Given the description of an element on the screen output the (x, y) to click on. 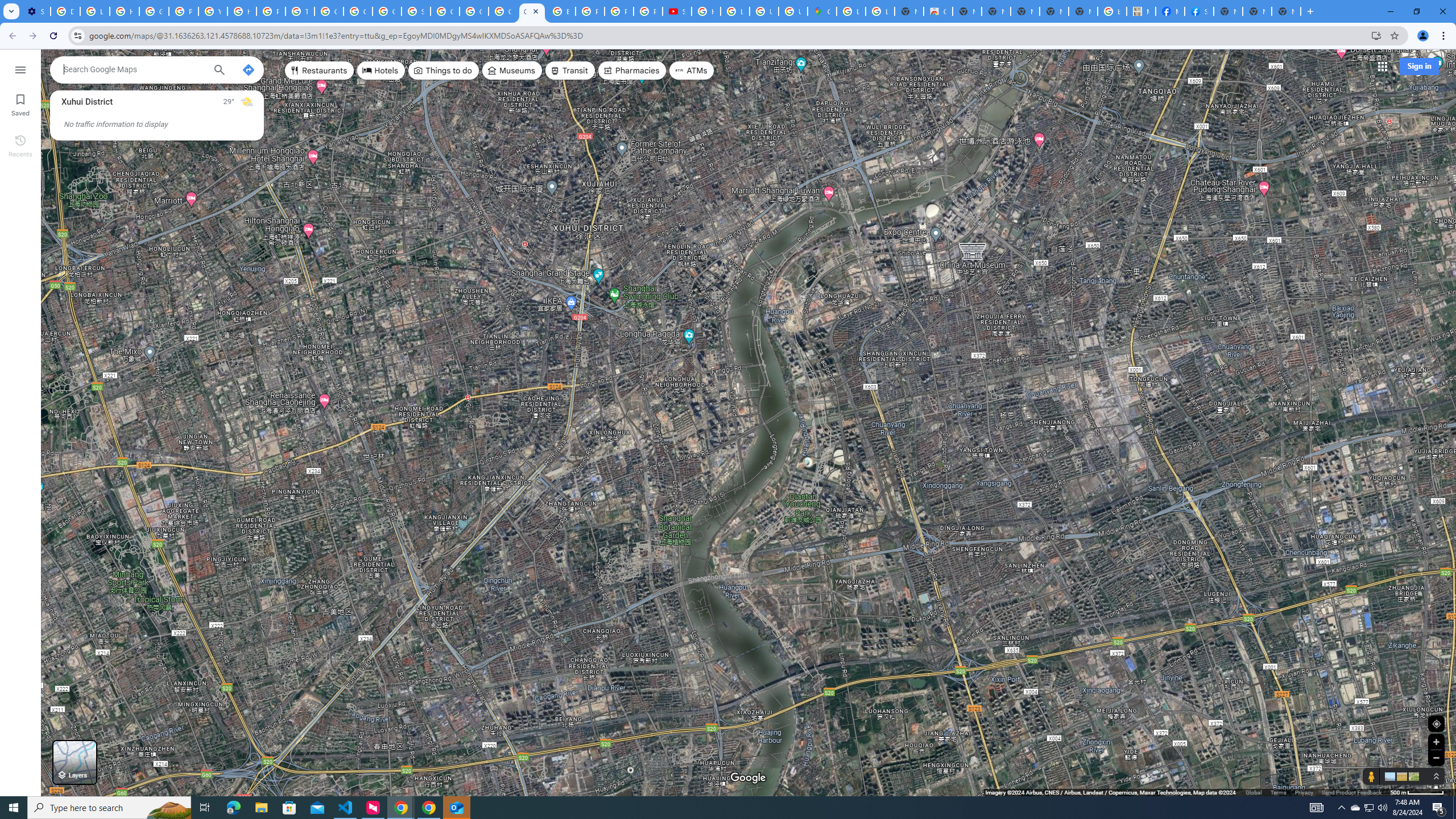
Hotels (381, 70)
Directions (247, 69)
Partly cloudy (246, 101)
Show Street View coverage (1371, 776)
Privacy Help Center - Policies Help (590, 11)
Settings - Customize profile (35, 11)
Privacy Help Center - Policies Help (271, 11)
